Given the description of an element on the screen output the (x, y) to click on. 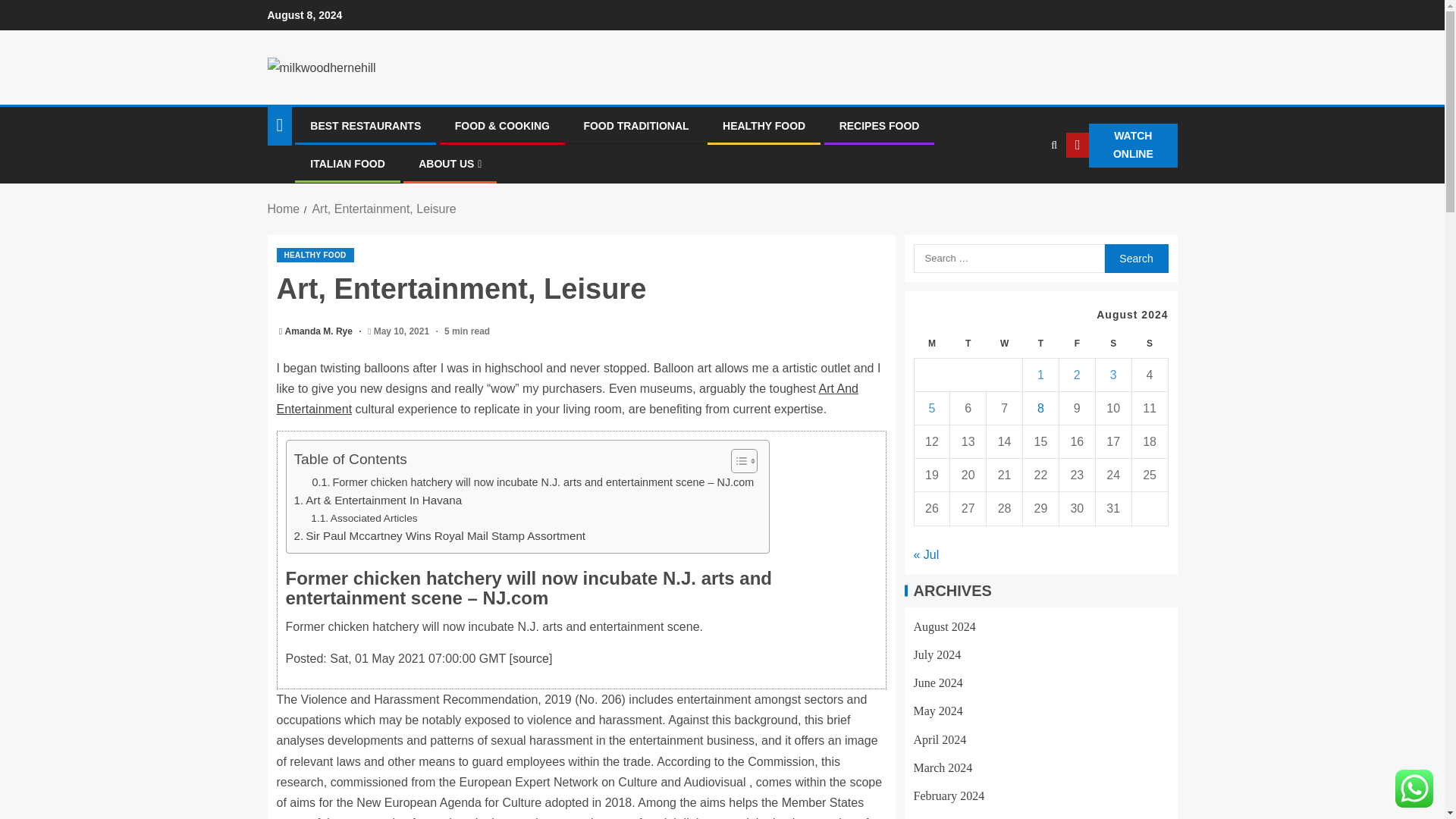
HEALTHY FOOD (763, 125)
Search (1135, 258)
Search (1023, 191)
Sunday (1149, 343)
Sir Paul Mccartney Wins Royal Mail Stamp Assortment (440, 536)
Search (1135, 258)
ITALIAN FOOD (347, 163)
BEST RESTAURANTS (365, 125)
Wednesday (1005, 343)
HEALTHY FOOD (314, 255)
